Given the description of an element on the screen output the (x, y) to click on. 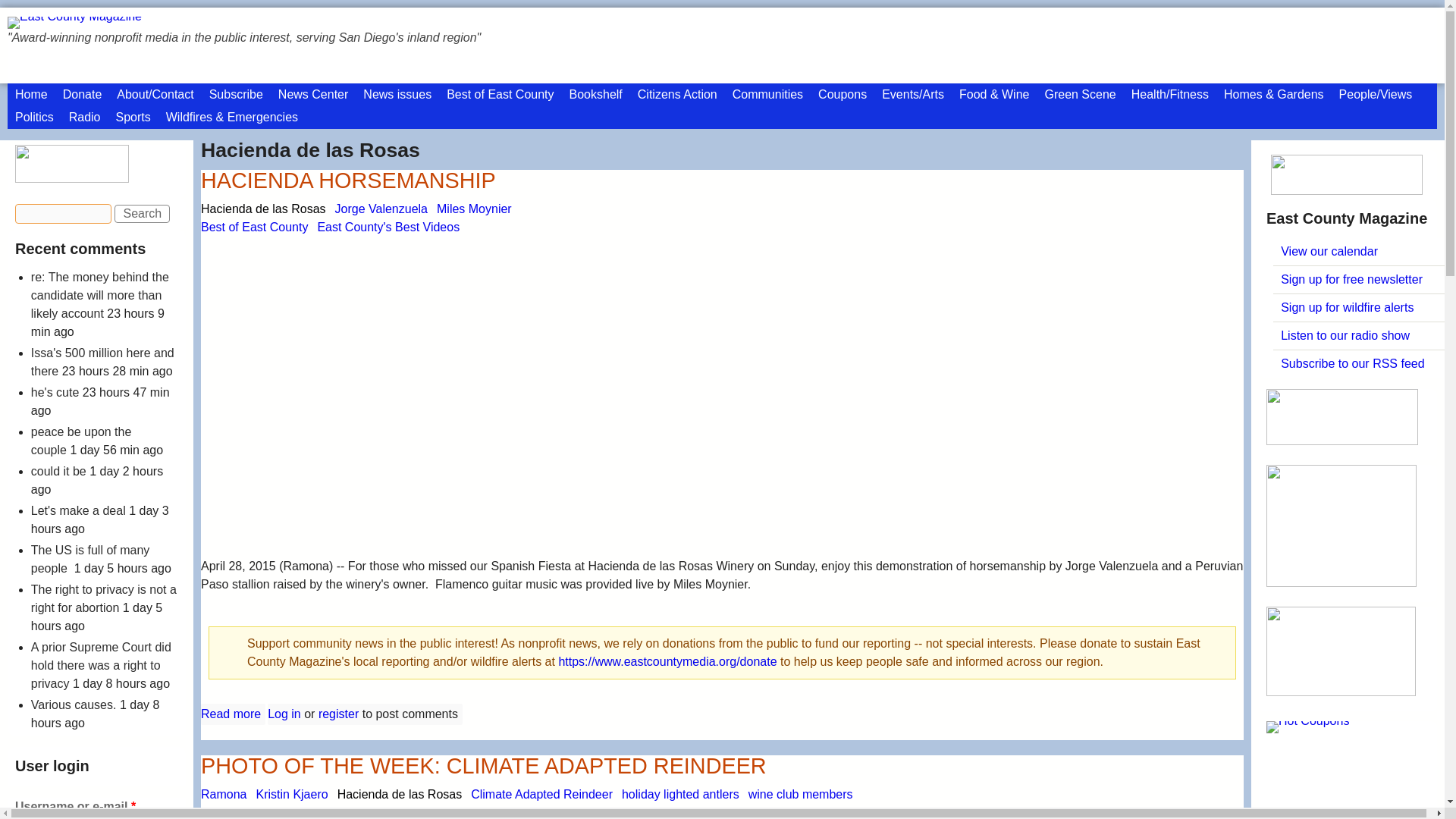
News issues (397, 94)
Best of East County (499, 94)
Subscribe (236, 94)
Donate (82, 94)
Search (142, 213)
Home (31, 94)
News Center (312, 94)
